Given the description of an element on the screen output the (x, y) to click on. 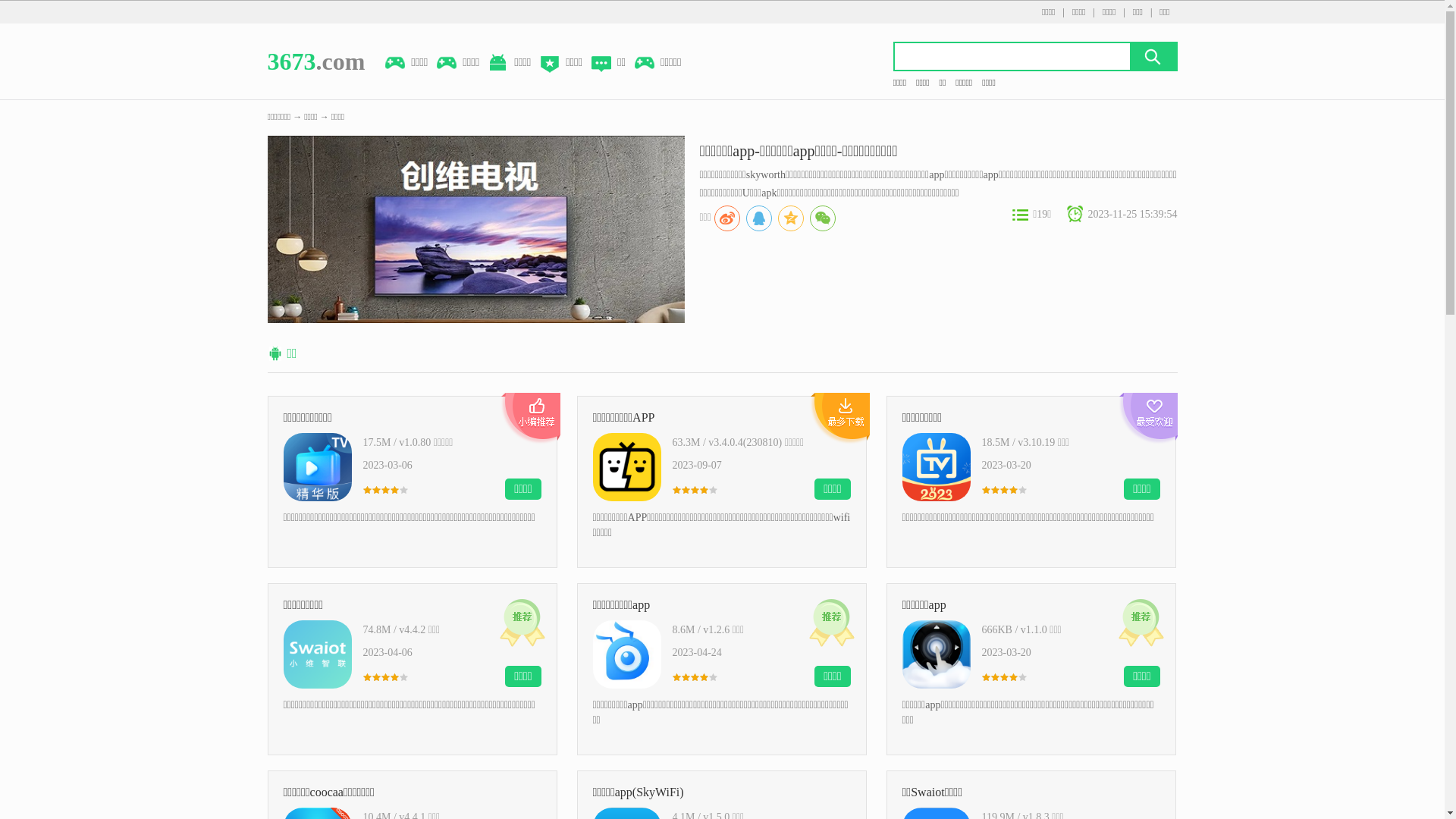
3673.com Element type: text (315, 61)
